Given the description of an element on the screen output the (x, y) to click on. 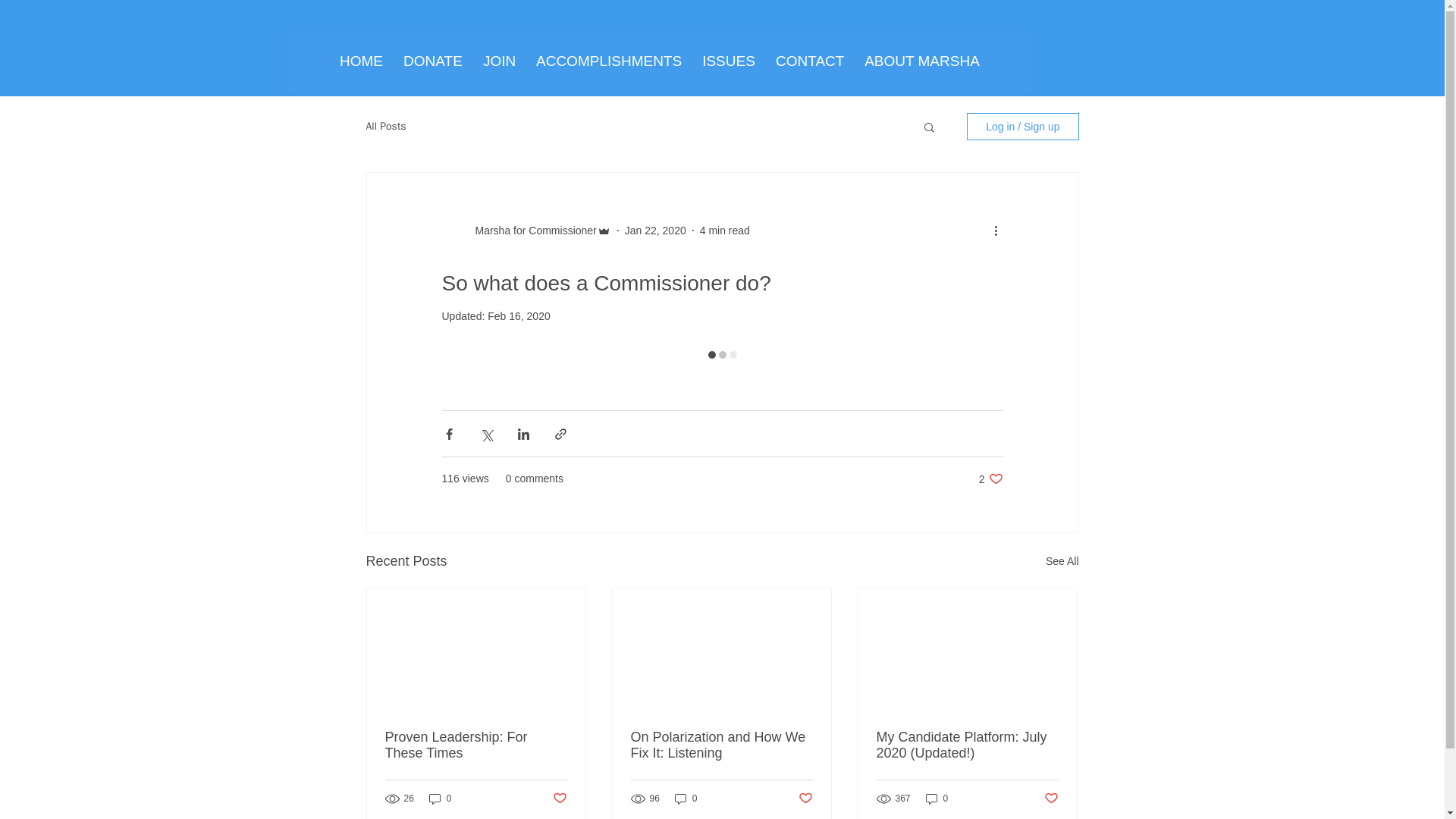
Feb 16, 2020 (518, 316)
Post not marked as liked (1050, 797)
Jan 22, 2020 (654, 230)
Marsha for Commissioner (530, 230)
0 (440, 798)
CONTACT (809, 60)
Post not marked as liked (804, 797)
0 (937, 798)
ABOUT MARSHA (921, 60)
HOME (361, 60)
All Posts (385, 126)
On Polarization and How We Fix It: Listening (721, 745)
Post not marked as liked (558, 797)
ACCOMPLISHMENTS (608, 60)
0 (685, 798)
